Given the description of an element on the screen output the (x, y) to click on. 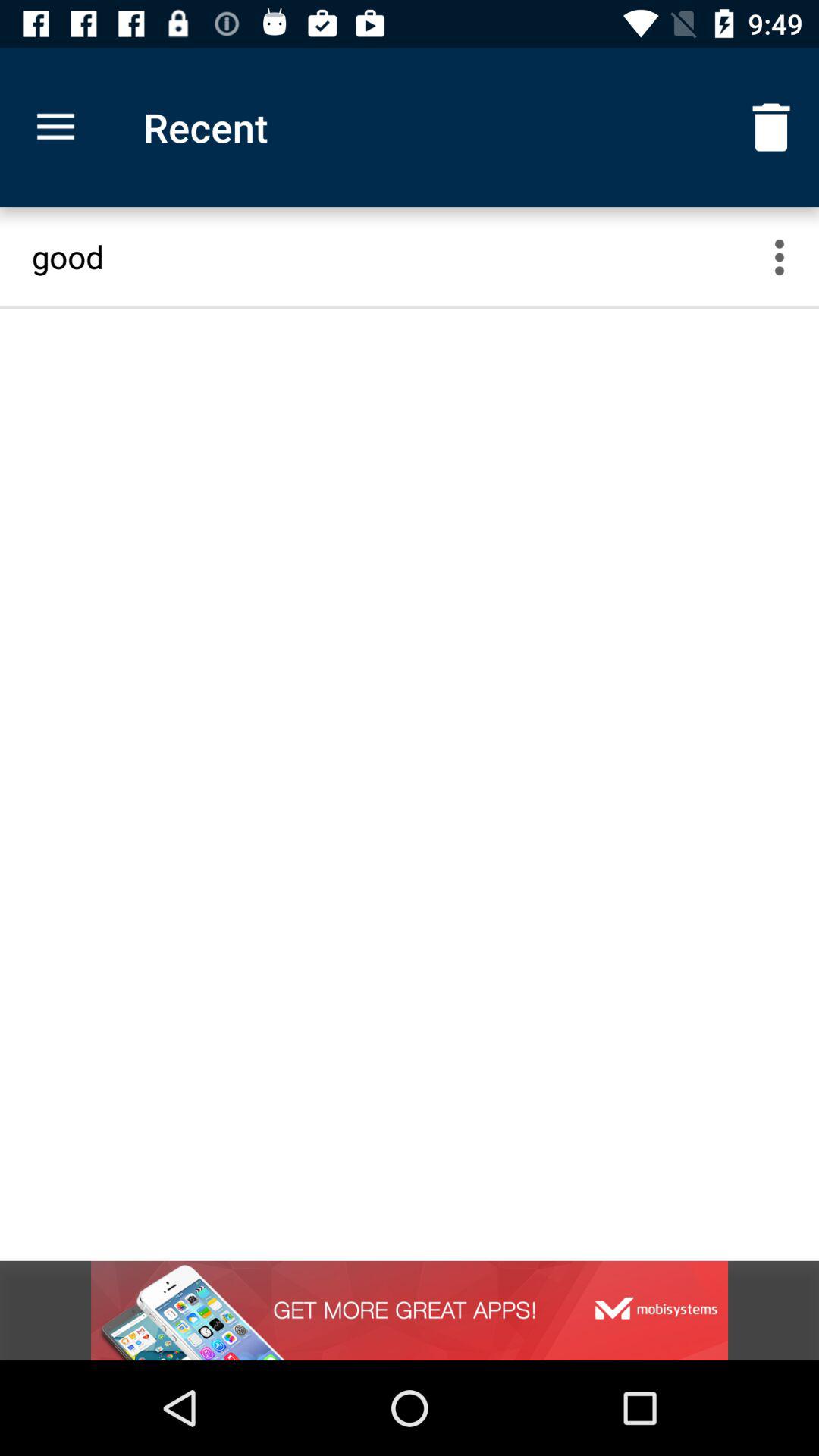
flip to good item (395, 256)
